Given the description of an element on the screen output the (x, y) to click on. 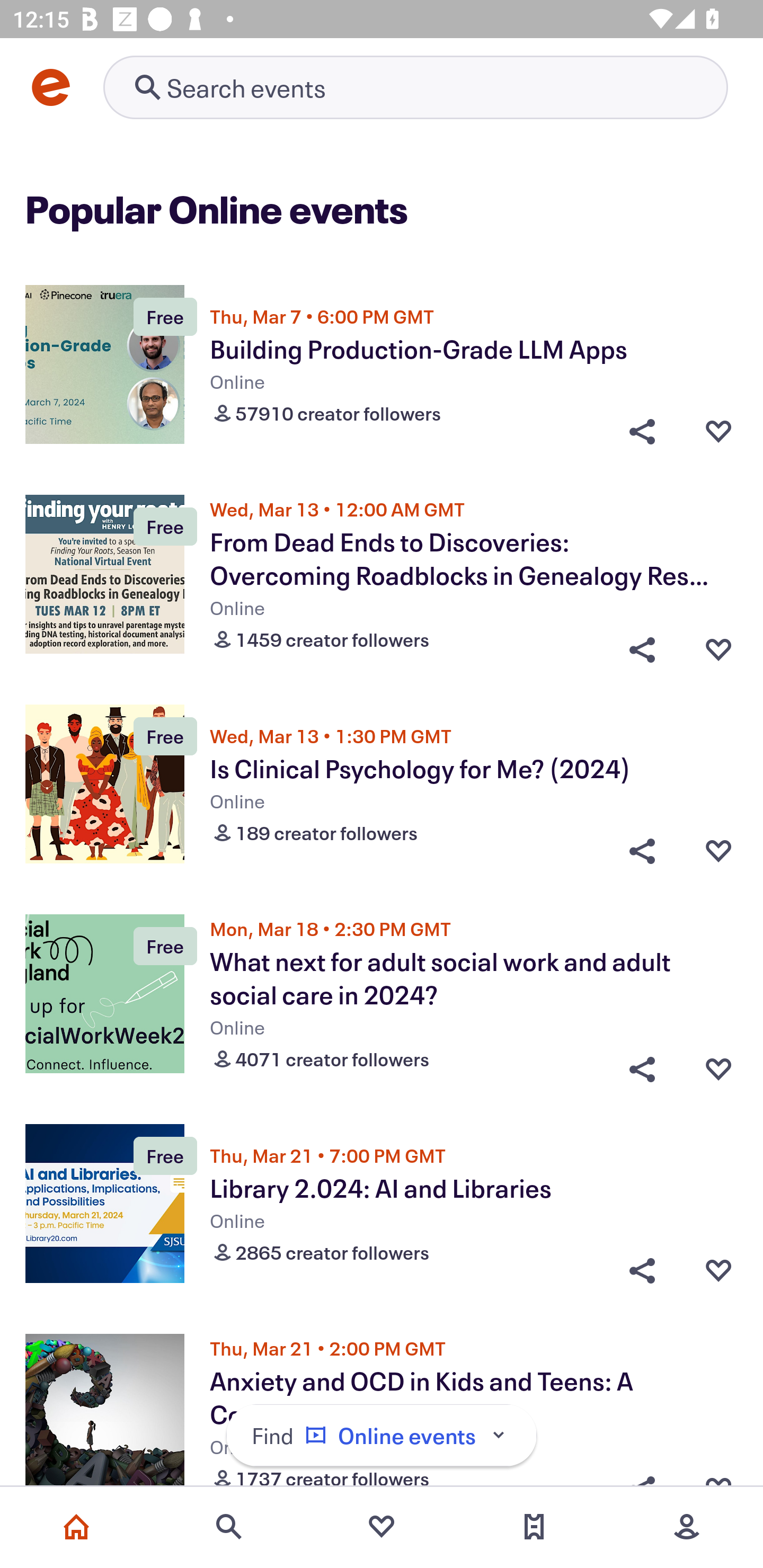
Retry's image Search events (415, 86)
Share button (642, 430)
Favorite button (718, 430)
Share button (642, 644)
Favorite button (718, 644)
Share button (642, 851)
Favorite button (718, 851)
Share button (642, 1065)
Favorite button (718, 1065)
Share button (642, 1269)
Favorite button (718, 1269)
Find Online events (381, 1435)
Home (76, 1526)
Search events (228, 1526)
Favorites (381, 1526)
Tickets (533, 1526)
More (686, 1526)
